Given the description of an element on the screen output the (x, y) to click on. 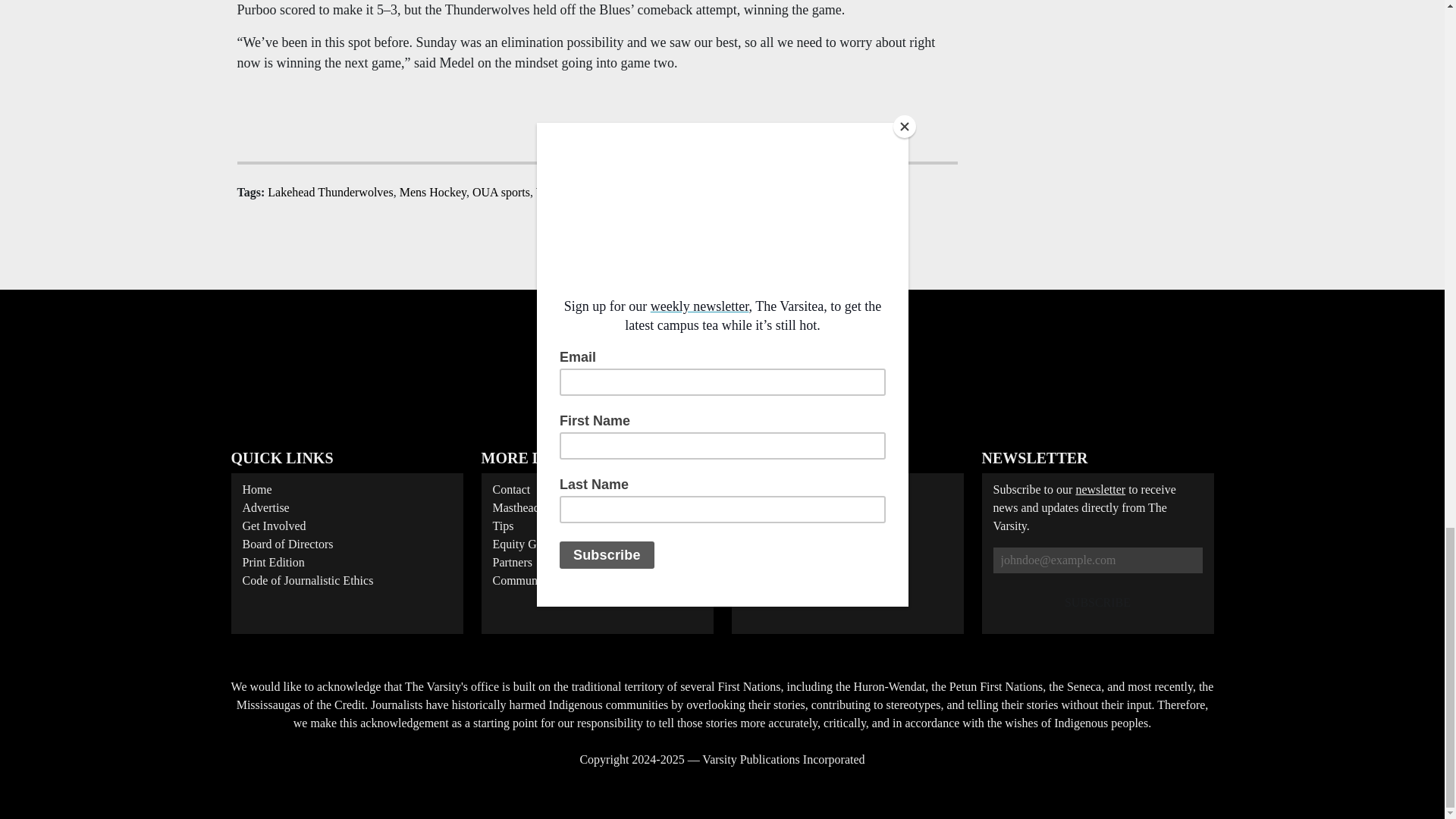
Subscribe (1097, 602)
